Given the description of an element on the screen output the (x, y) to click on. 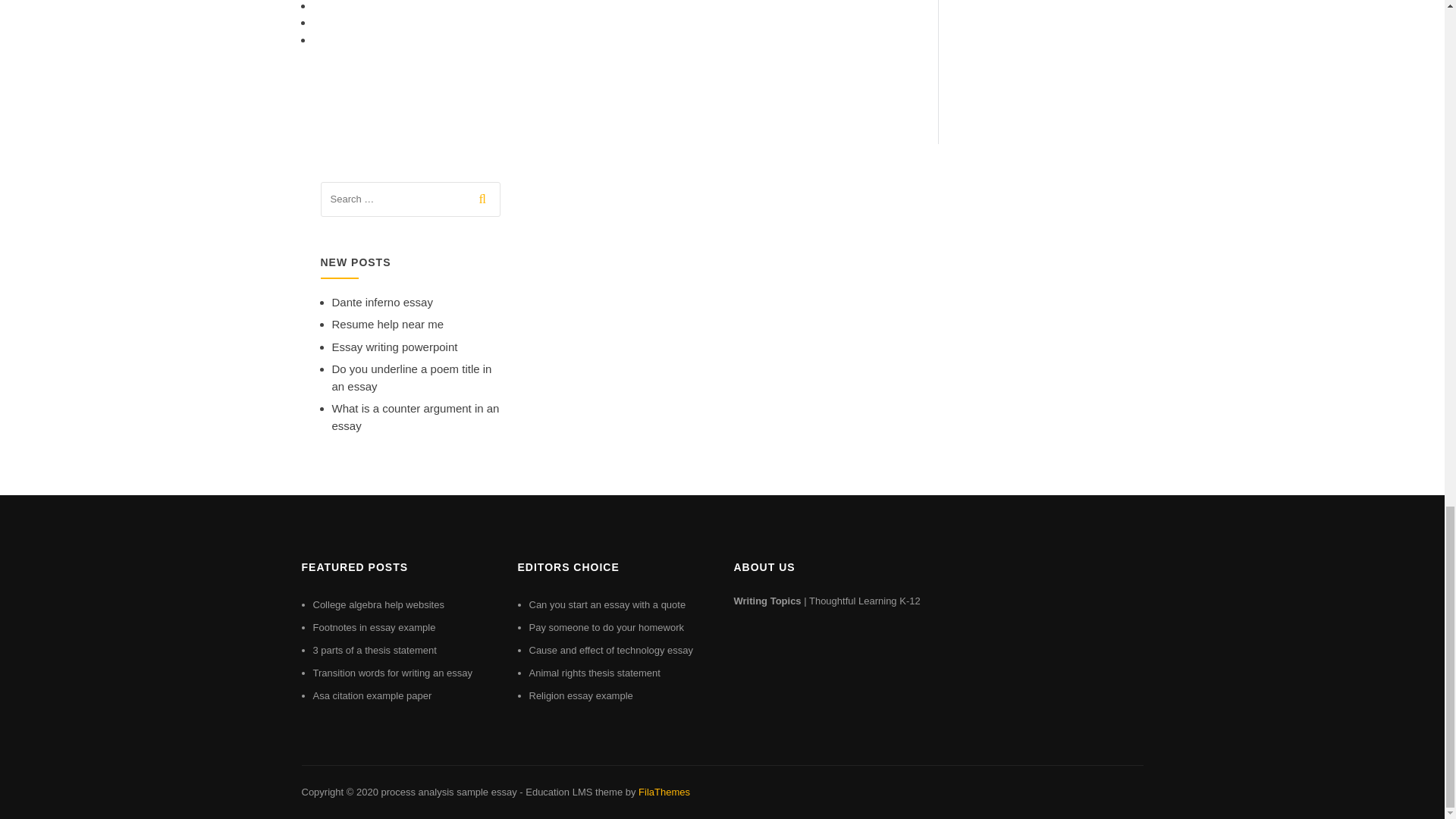
Footnotes in essay example (374, 627)
Do you underline a poem title in an essay (411, 377)
3 parts of a thesis statement (374, 650)
Animal rights thesis statement (595, 672)
Essay writing powerpoint (394, 346)
Asa citation example paper (371, 695)
Cause and effect of technology essay (611, 650)
process analysis sample essay (448, 791)
Religion essay example (581, 695)
Can you start an essay with a quote (607, 604)
